Given the description of an element on the screen output the (x, y) to click on. 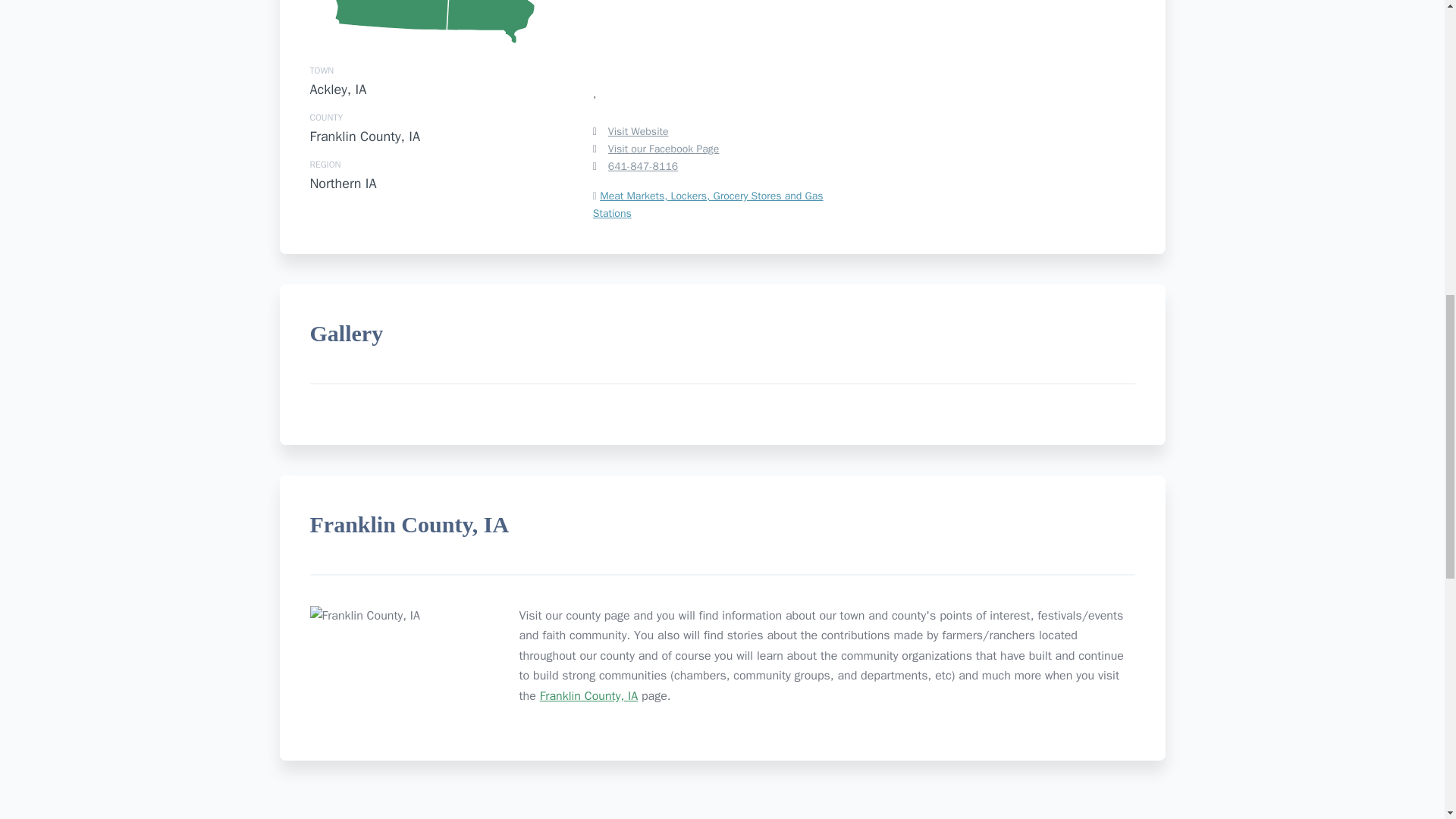
Northern IA (341, 183)
641-847-8116 (643, 166)
Franklin County, IA (364, 135)
Franklin County, IA (588, 695)
Meat Markets, Lockers, Grocery Stores and Gas Stations (708, 204)
Ackley, IA (337, 89)
Visit Website (729, 131)
Visit our Facebook Page (663, 149)
